Given the description of an element on the screen output the (x, y) to click on. 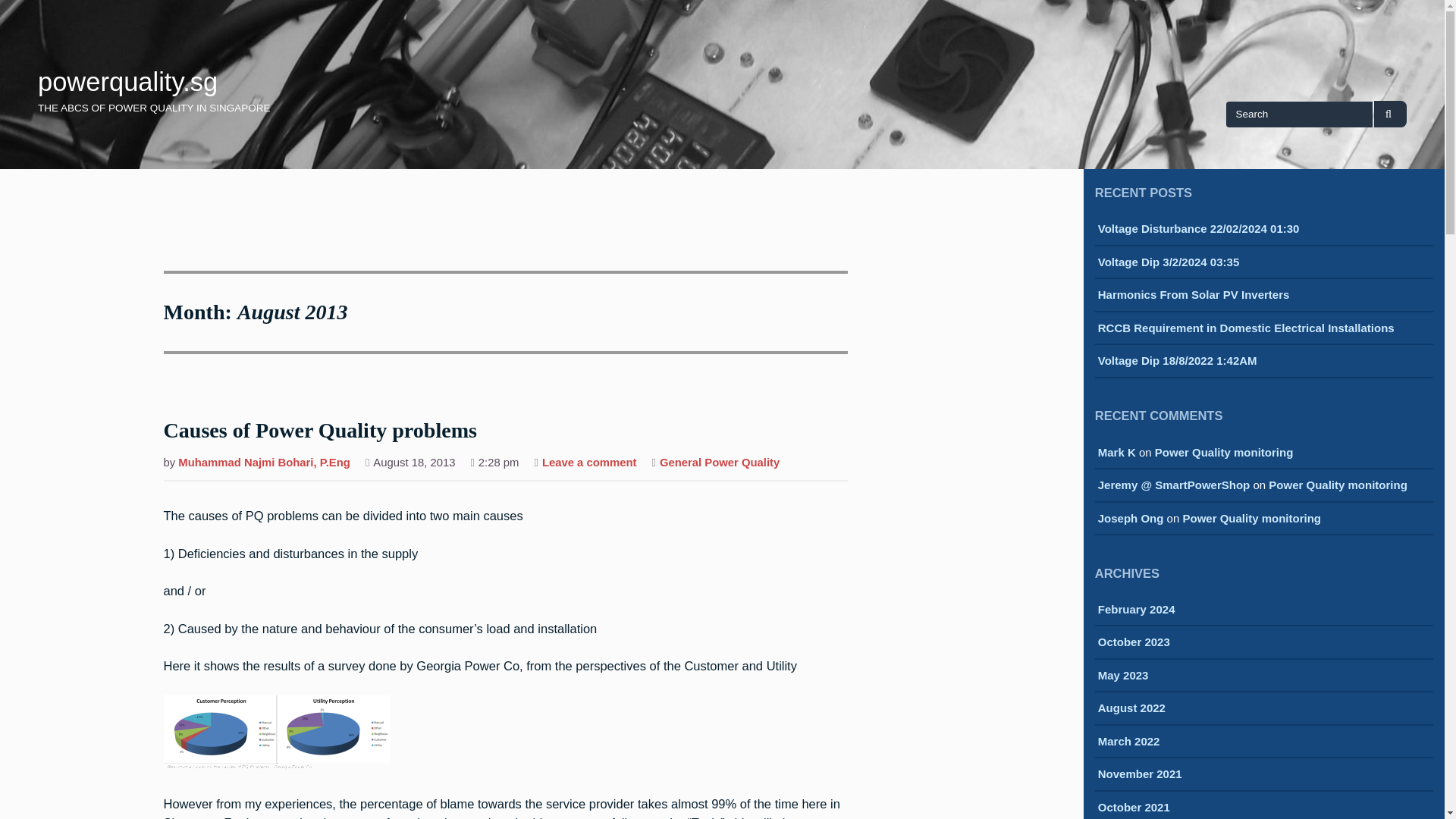
March 2022 (1128, 742)
powerquality.sg (126, 81)
Mark K (1116, 452)
May 2023 (1122, 676)
RCCB Requirement in Domestic Electrical Installations (1245, 329)
Power Quality monitoring (1337, 485)
General Power Quality (718, 463)
February 2024 (1135, 610)
Harmonics From Solar PV Inverters (1193, 295)
October 2023 (1133, 643)
Search (1390, 113)
Power Quality monitoring (1224, 452)
November 2021 (1139, 774)
Muhammad Najmi Bohari, P.Eng (263, 463)
Causes of Power Quality problems (320, 431)
